Given the description of an element on the screen output the (x, y) to click on. 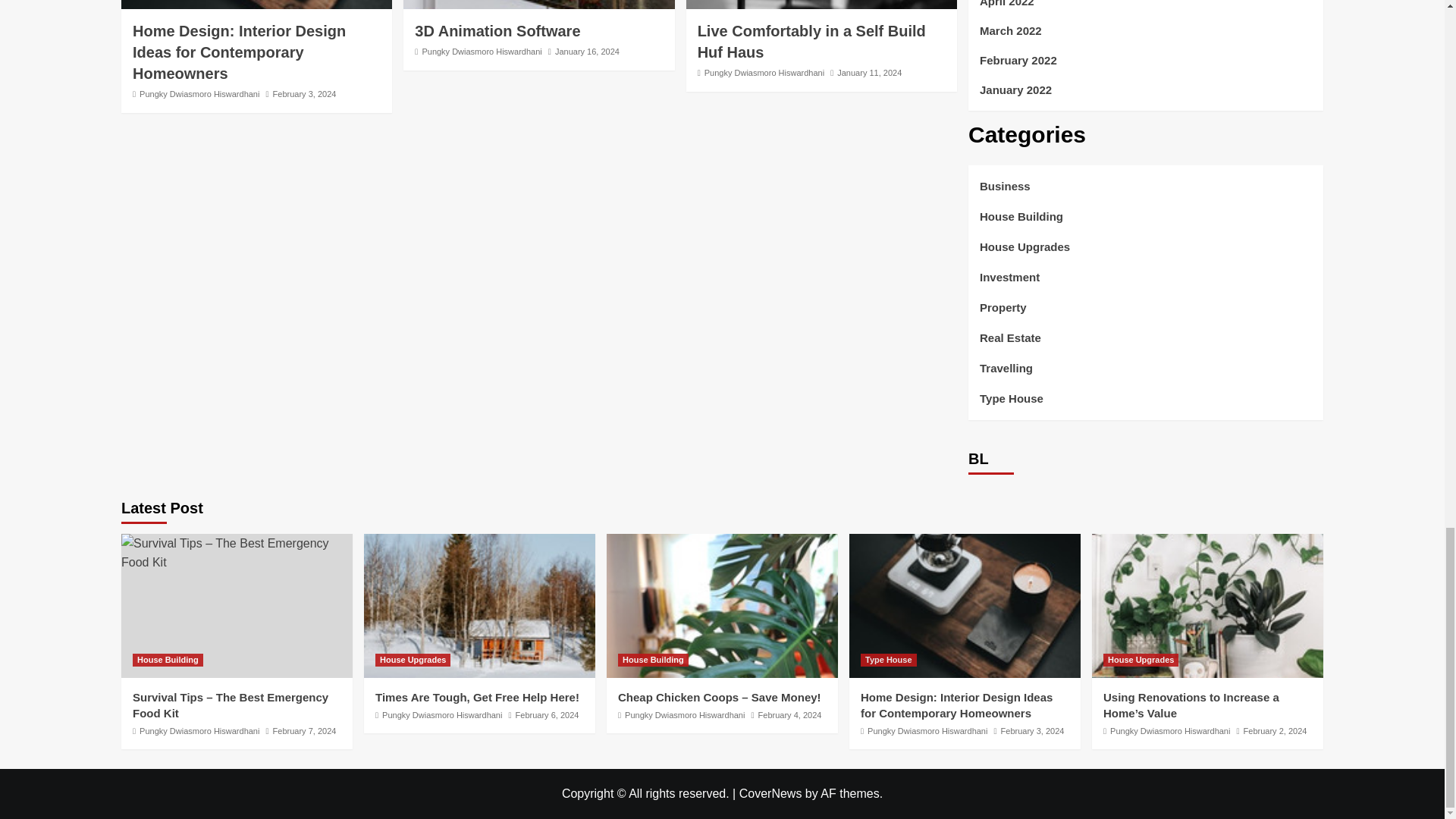
Pungky Dwiasmoro Hiswardhani (481, 51)
January 16, 2024 (587, 51)
Pungky Dwiasmoro Hiswardhani (199, 93)
Times Are Tough, Get Free Help Here! (479, 605)
Live Comfortably in a Self Build Huf Haus (820, 4)
February 3, 2024 (304, 93)
3D Animation Software (496, 30)
